Given the description of an element on the screen output the (x, y) to click on. 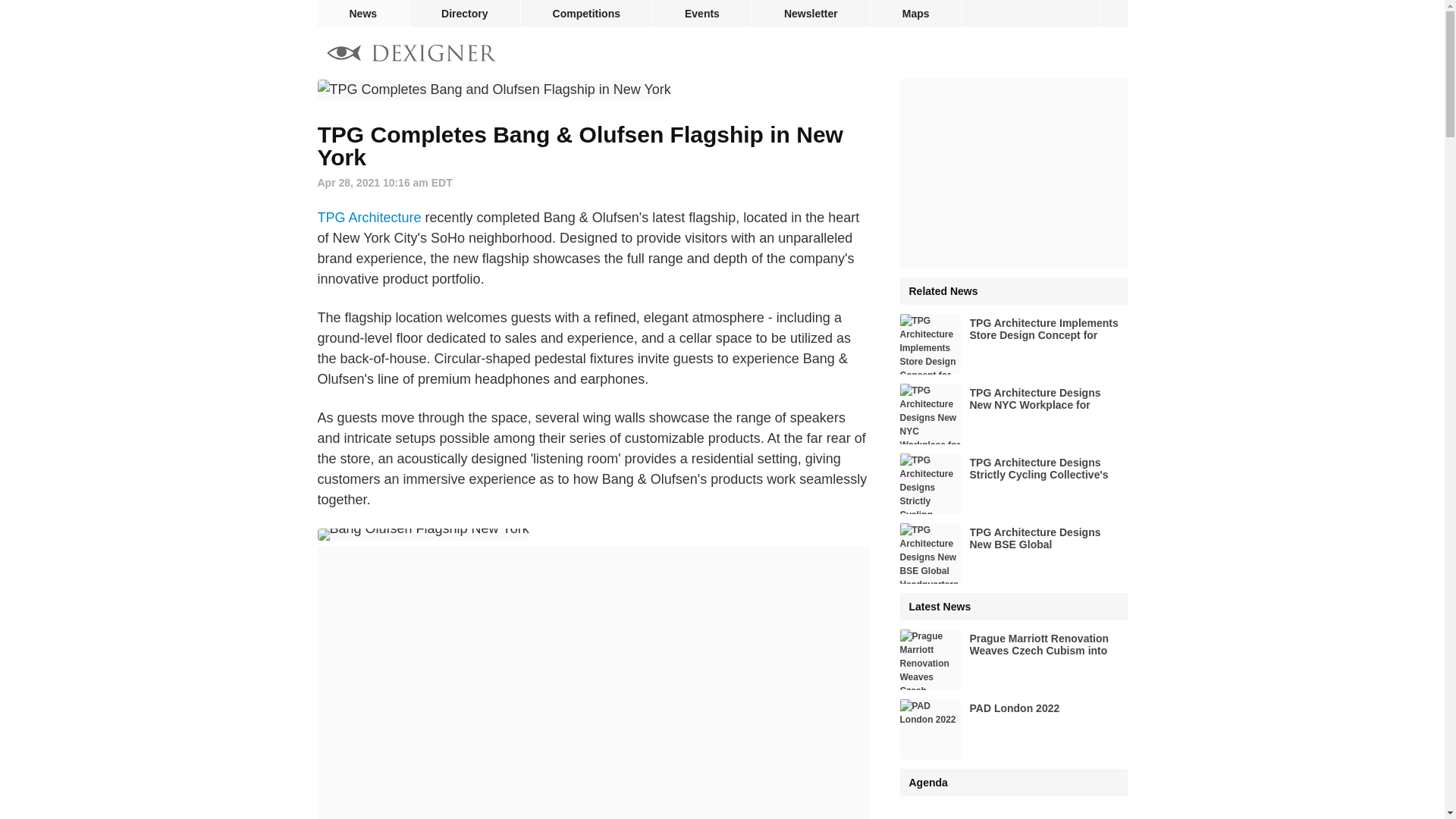
TPG Architecture Designs New BSE Global Headquarters (1012, 553)
Events (701, 13)
follow dexigner (1112, 13)
TPG Architecture (368, 217)
News (363, 13)
Competitions (586, 13)
Newsletter (810, 13)
